Given the description of an element on the screen output the (x, y) to click on. 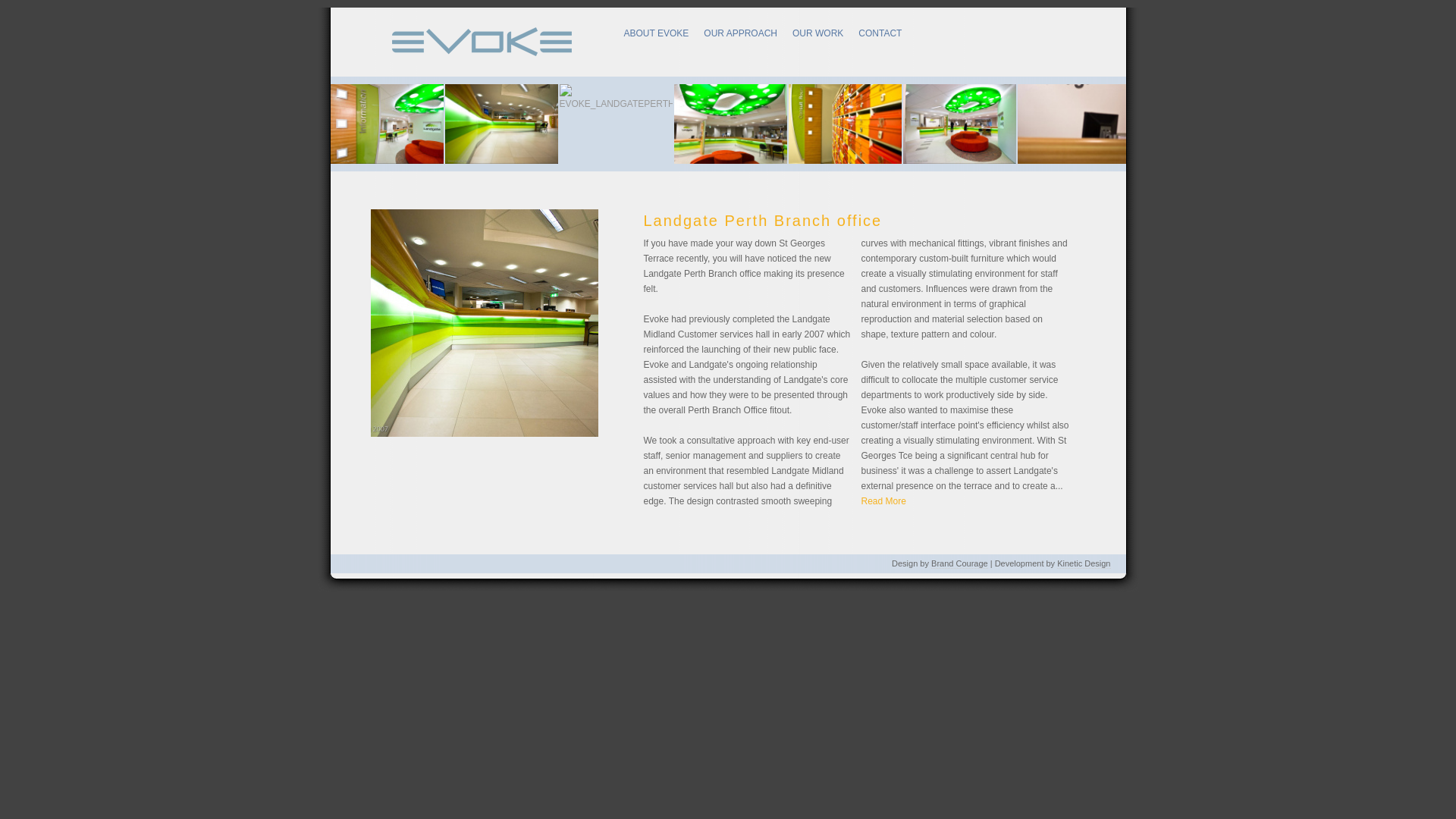
CONTACT Element type: text (879, 32)
Read More Element type: text (883, 500)
Kinetic Design Element type: text (1083, 563)
OUR APPROACH Element type: text (740, 32)
ABOUT EVOKE Element type: text (655, 32)
OUR WORK Element type: text (817, 32)
Brand Courage Element type: text (959, 563)
